Given the description of an element on the screen output the (x, y) to click on. 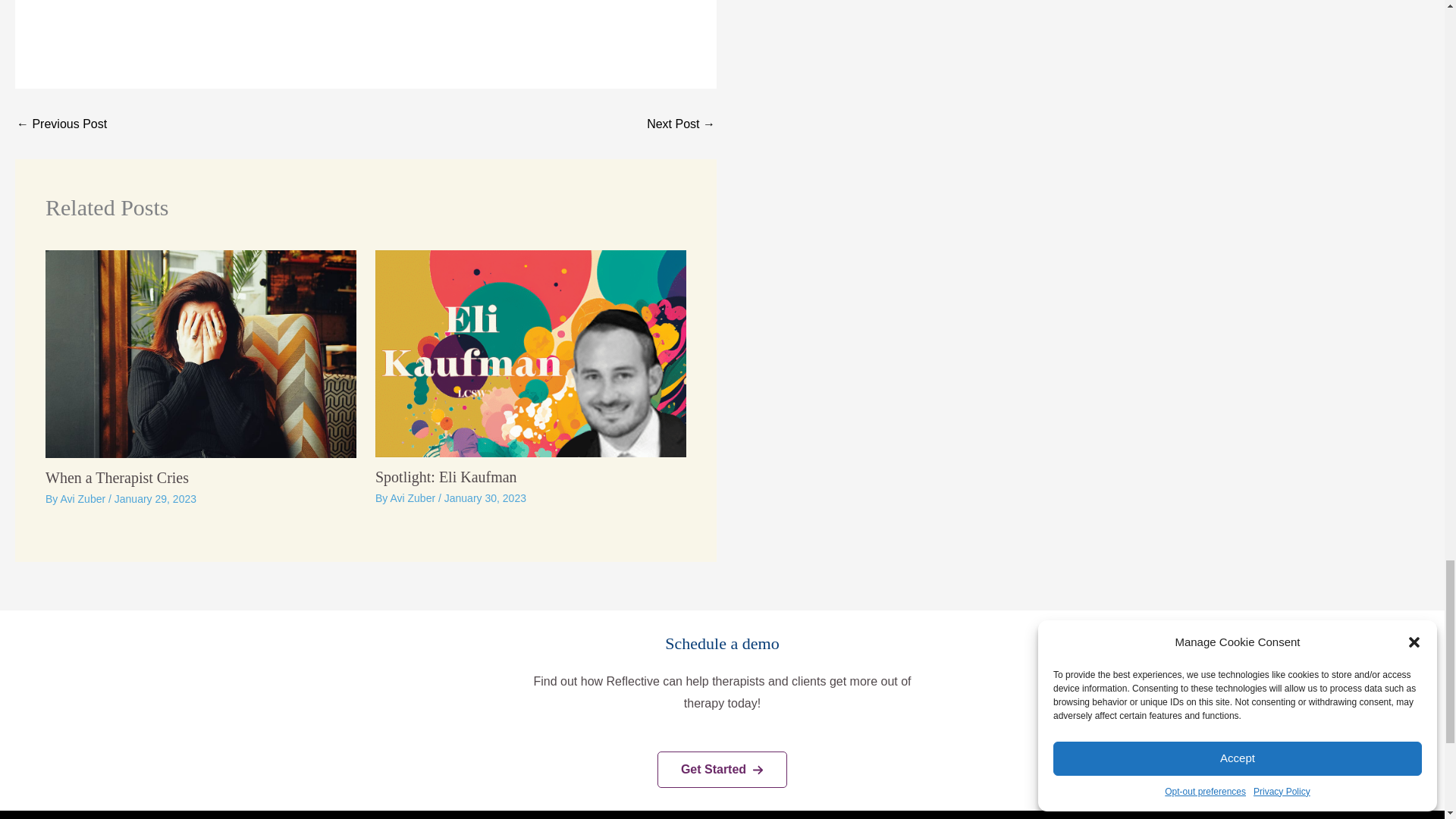
View all posts by Avi Zuber (414, 498)
We need your feedback for Reflective (680, 123)
View all posts by Avi Zuber (83, 499)
Spotlight: Harleny Vasquez (61, 123)
Avi Zuber (83, 499)
When a Therapist Cries (117, 477)
